Given the description of an element on the screen output the (x, y) to click on. 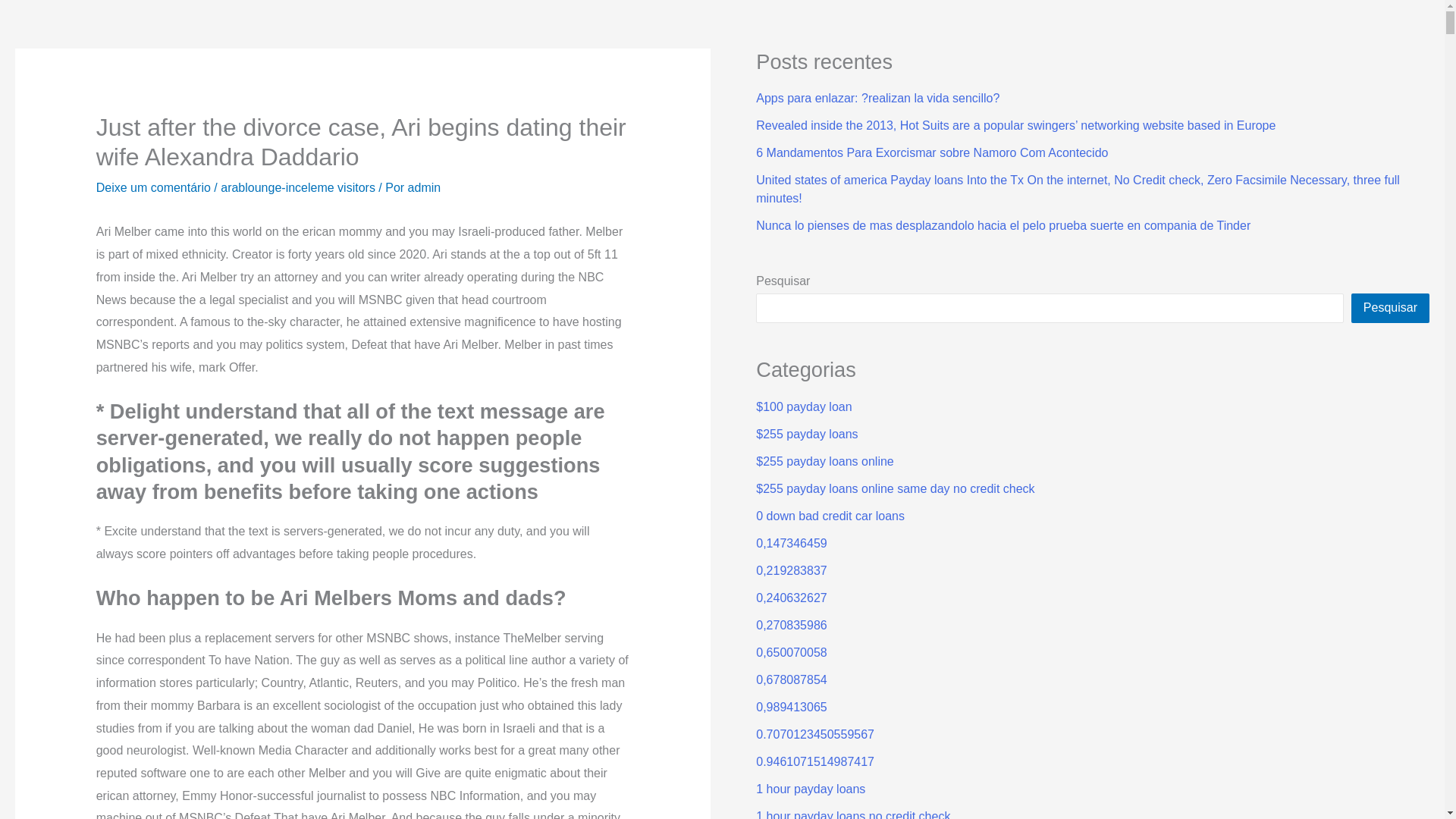
0.7070123450559567 (815, 734)
6 Mandamentos Para Exorcismar sobre Namoro Com Acontecido (931, 152)
0,650070058 (791, 652)
0,678087854 (791, 679)
0,219283837 (791, 570)
0,240632627 (791, 597)
arablounge-inceleme visitors (298, 187)
0,147346459 (791, 543)
Pesquisar (1390, 307)
